Given the description of an element on the screen output the (x, y) to click on. 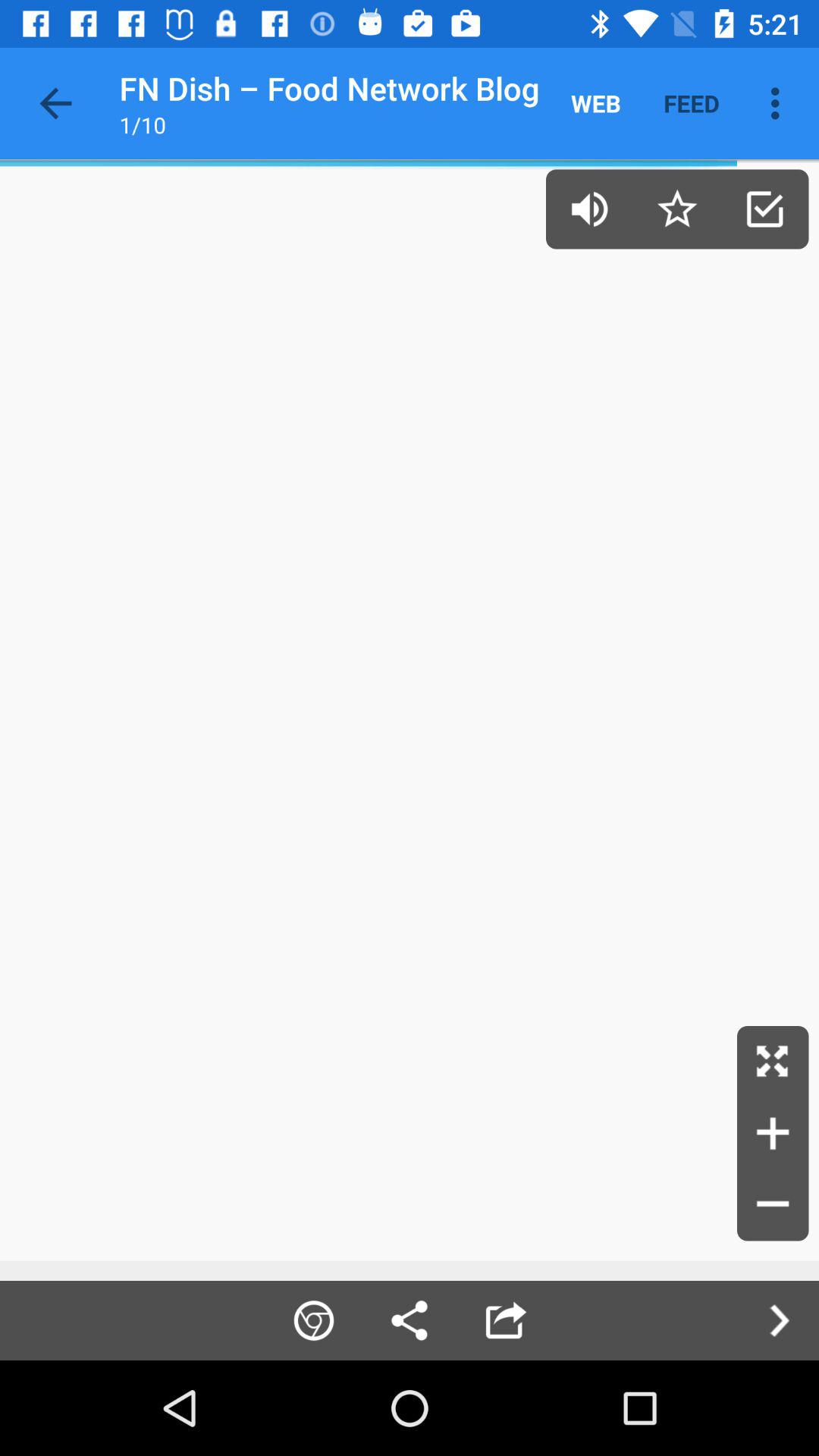
turn on item next to feed item (595, 103)
